Given the description of an element on the screen output the (x, y) to click on. 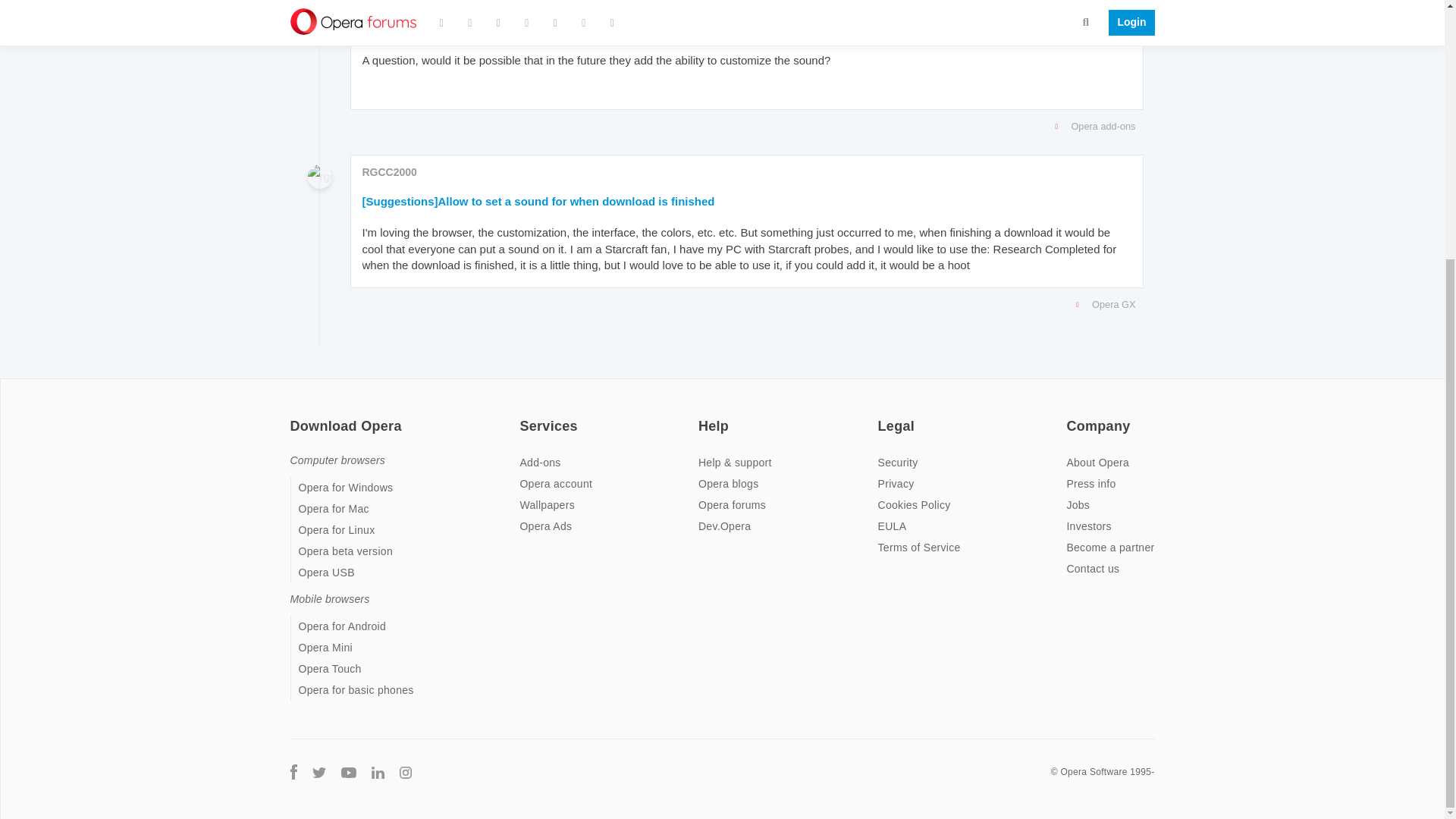
on (1070, 415)
RGCC2000 (389, 172)
on (293, 415)
Opera for Mac (333, 508)
Opera GX (742, 304)
on (702, 415)
on (881, 415)
RE: Download Sound (419, 28)
Opera for Linux (336, 530)
Opera add-ons (742, 126)
rgcc2000 (319, 176)
Opera for Windows (345, 487)
RGCC2000 (389, 2)
rgcc2000 (319, 7)
on (523, 415)
